Given the description of an element on the screen output the (x, y) to click on. 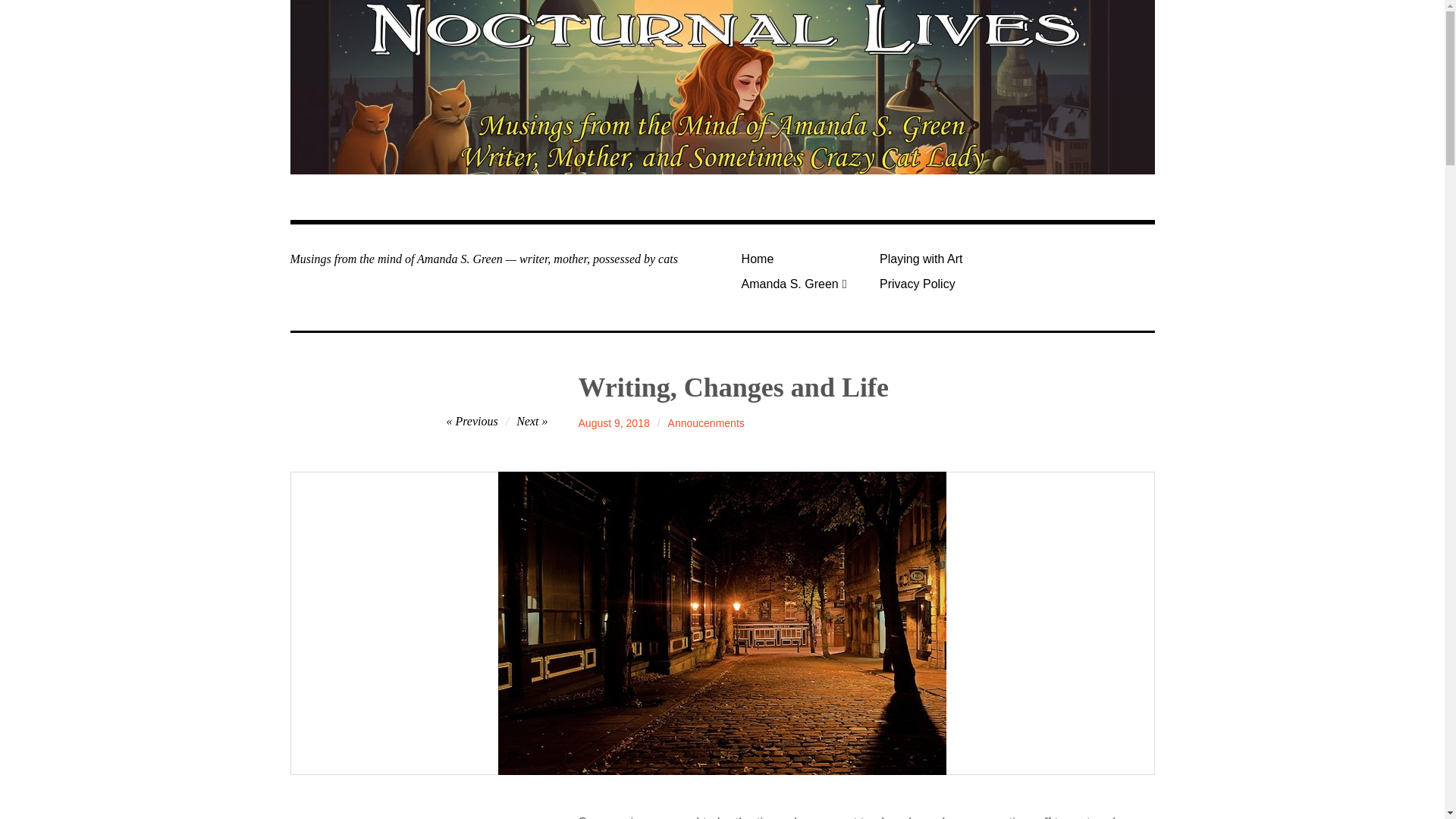
Previous (471, 420)
Amanda S. Green (804, 283)
Playing with Art (942, 259)
Amanda (597, 423)
Home (804, 259)
August 9, 2018 (613, 423)
Privacy Policy (942, 283)
Nocturnal Lives (414, 214)
Next (531, 420)
Annoucenments (706, 423)
